Given the description of an element on the screen output the (x, y) to click on. 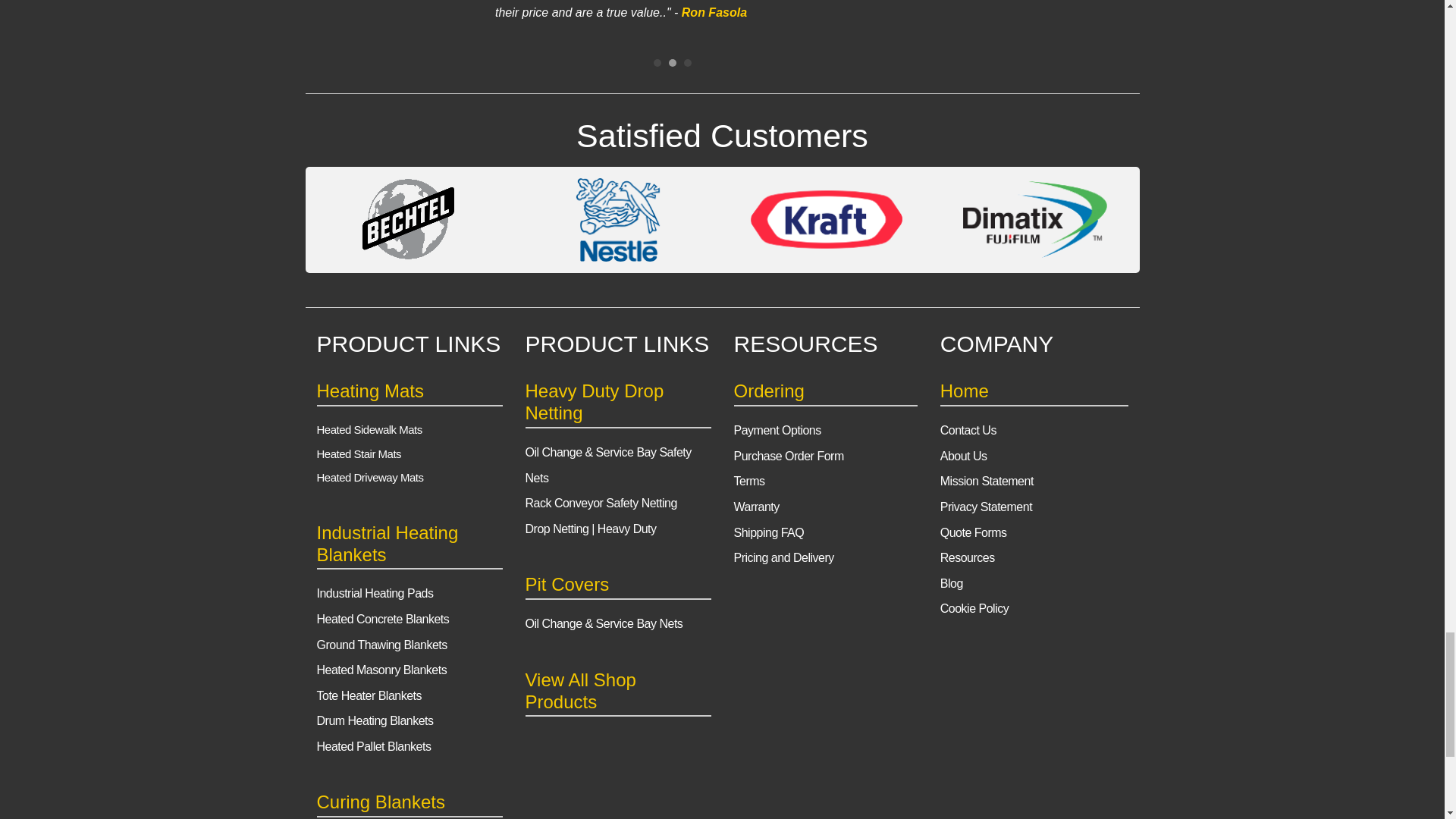
Home (964, 390)
Heavy Duty Drop Netting (593, 401)
Pit Covers (566, 584)
Curing Blankets (381, 801)
View All Shop Products (579, 690)
Industrial Heating Blankets (387, 543)
Heating Mats (370, 390)
